Given the description of an element on the screen output the (x, y) to click on. 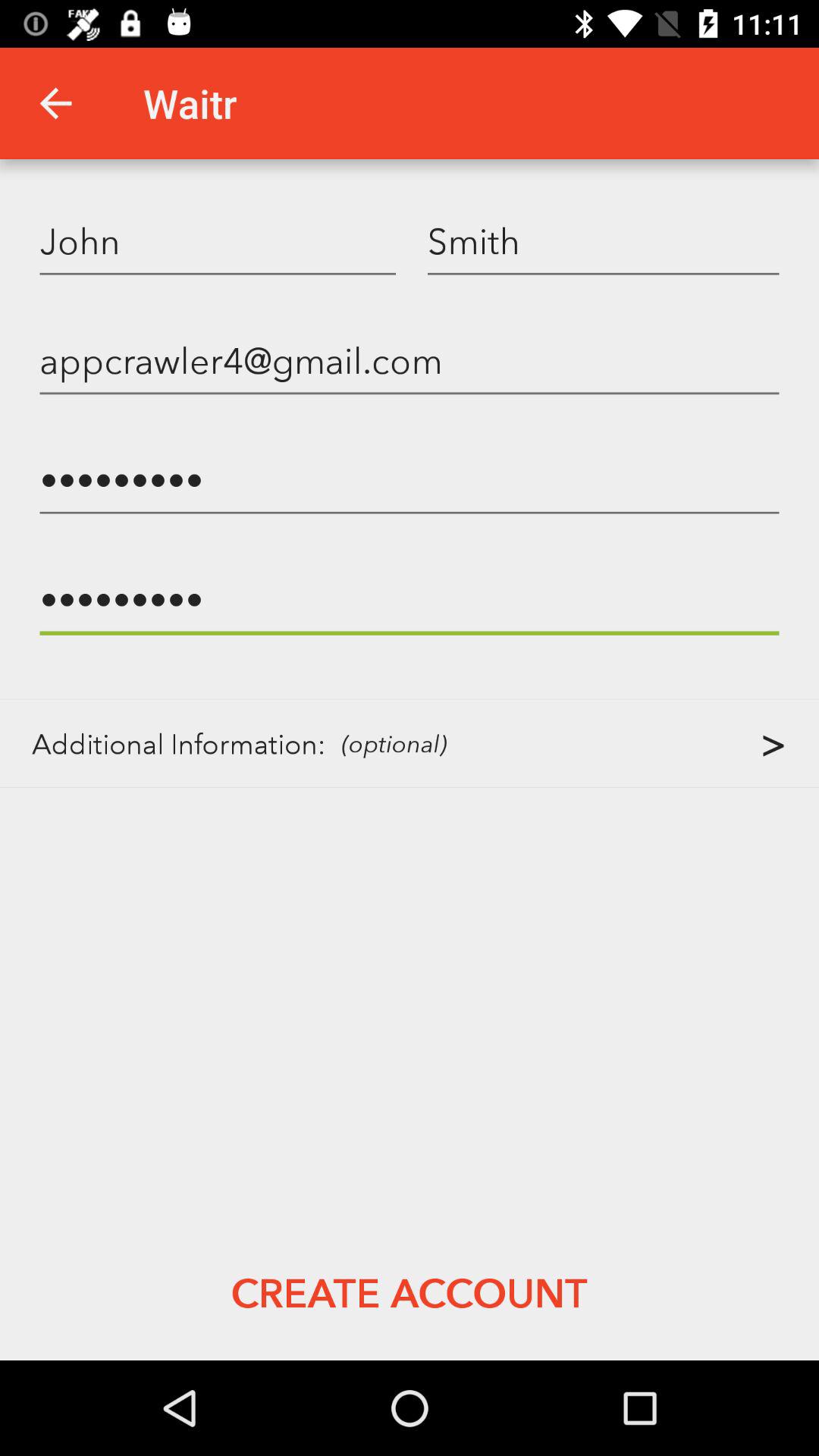
flip to smith item (603, 240)
